Given the description of an element on the screen output the (x, y) to click on. 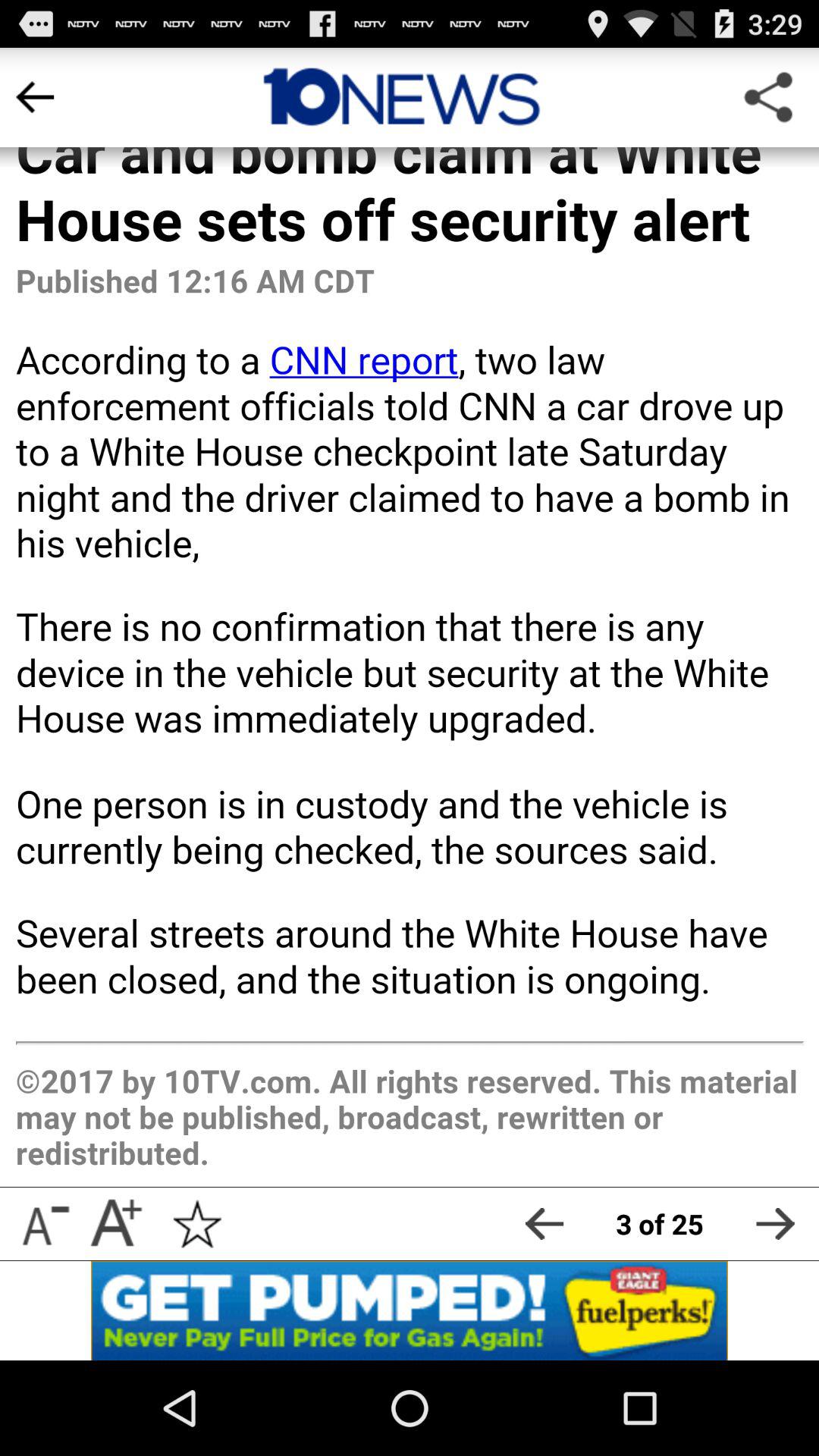
share article (768, 97)
